Given the description of an element on the screen output the (x, y) to click on. 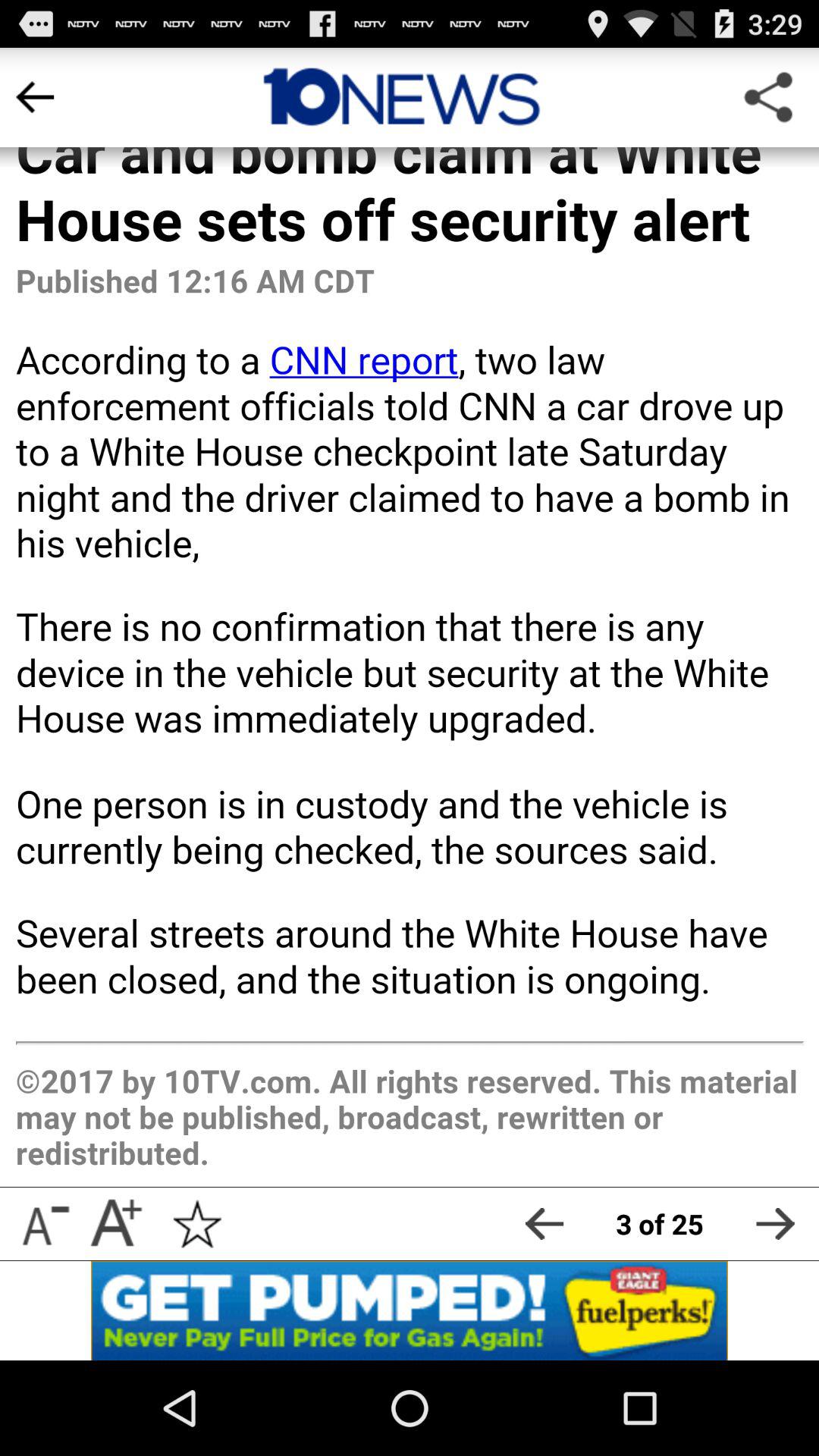
share article (768, 97)
